Given the description of an element on the screen output the (x, y) to click on. 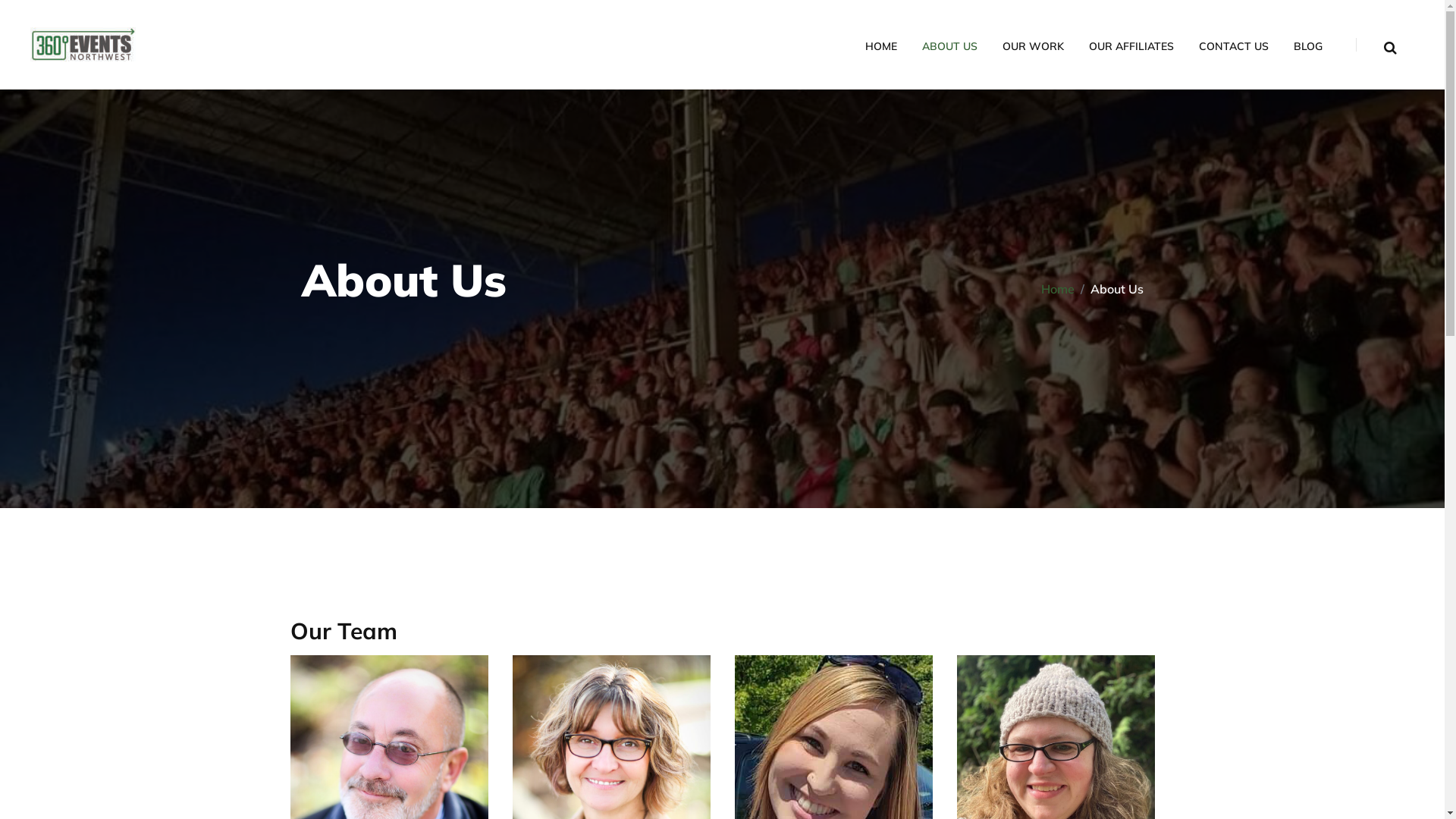
BLOG Element type: text (1308, 46)
HOME Element type: text (880, 46)
Home Element type: text (1056, 288)
CONTACT US Element type: text (1233, 46)
ABOUT US Element type: text (949, 46)
OUR WORK Element type: text (1032, 46)
OUR AFFILIATES Element type: text (1131, 46)
Search Element type: text (1084, 407)
